Given the description of an element on the screen output the (x, y) to click on. 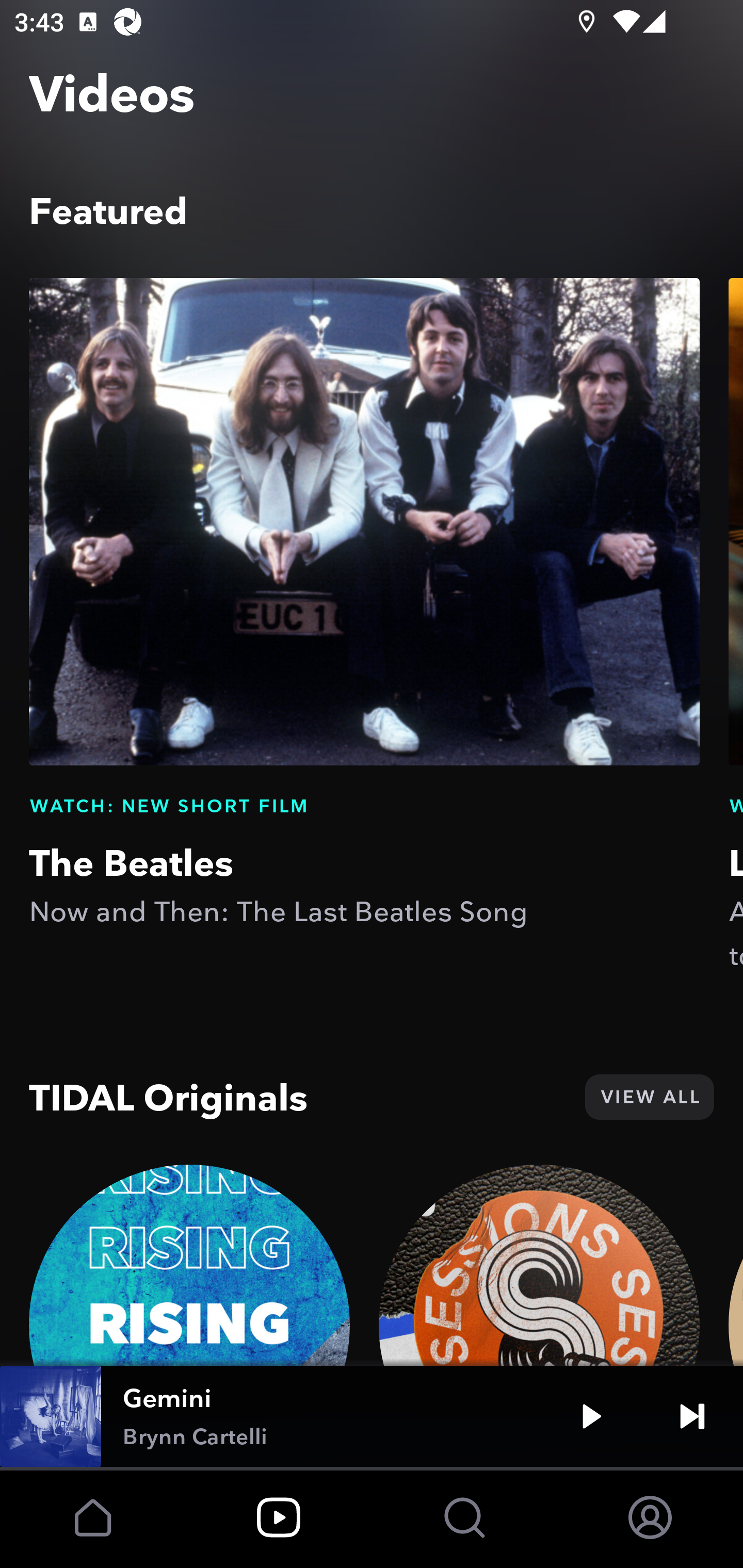
VIEW ALL (649, 1096)
Gemini Brynn Cartelli Play (371, 1416)
Play (590, 1416)
